Given the description of an element on the screen output the (x, y) to click on. 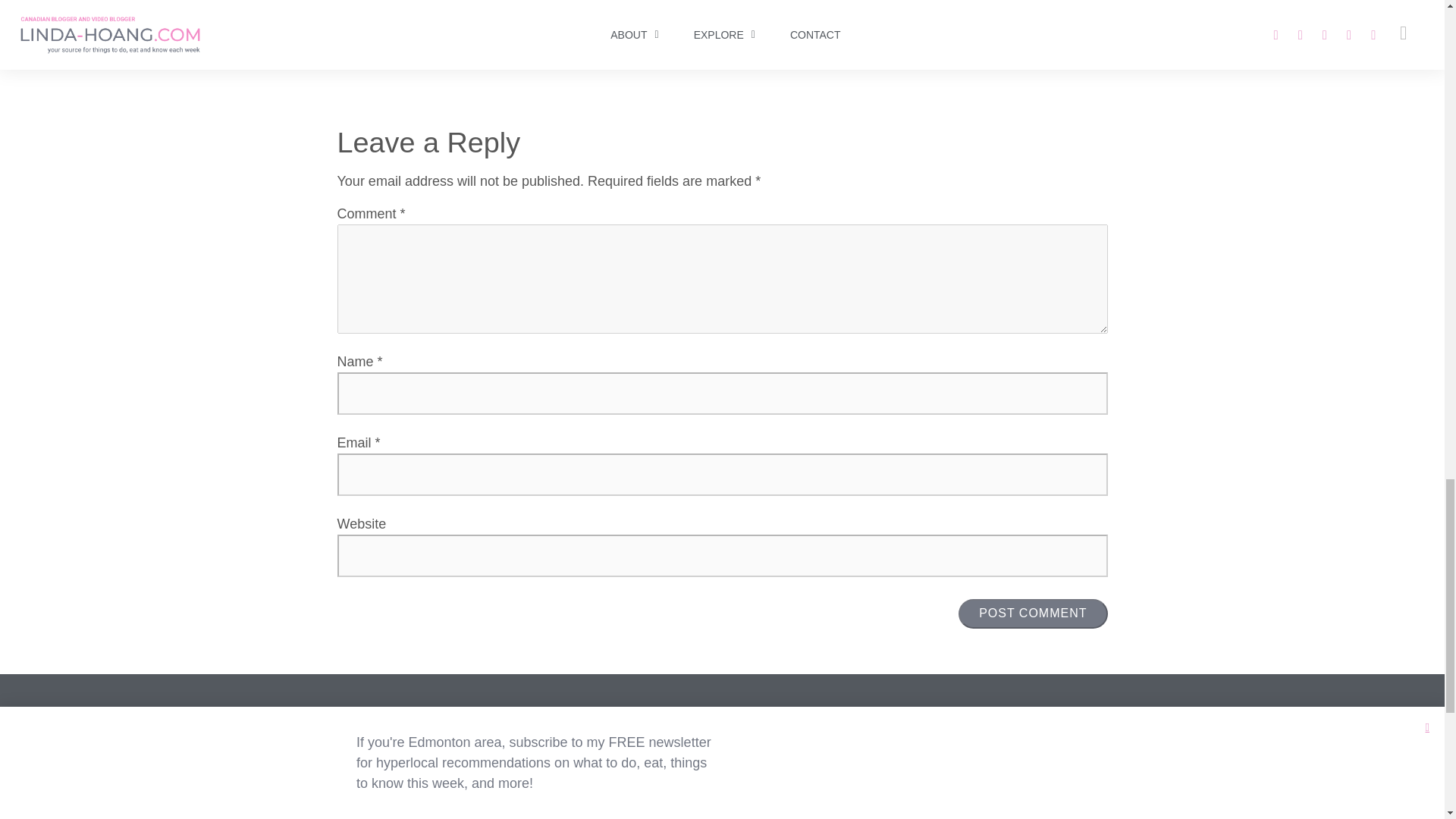
Post Comment (1032, 613)
